Given the description of an element on the screen output the (x, y) to click on. 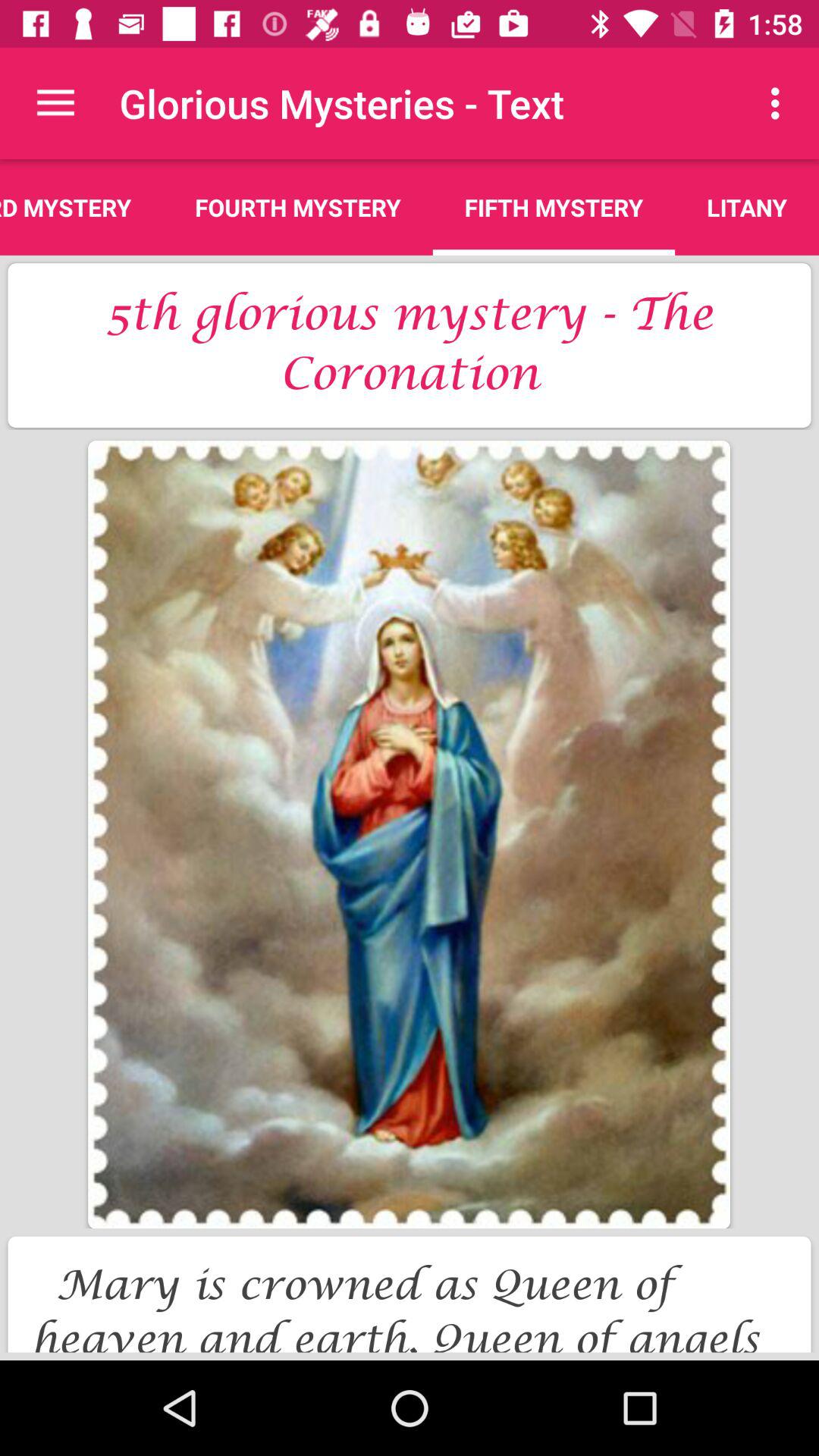
turn off the icon to the right of fifth mystery (779, 103)
